Given the description of an element on the screen output the (x, y) to click on. 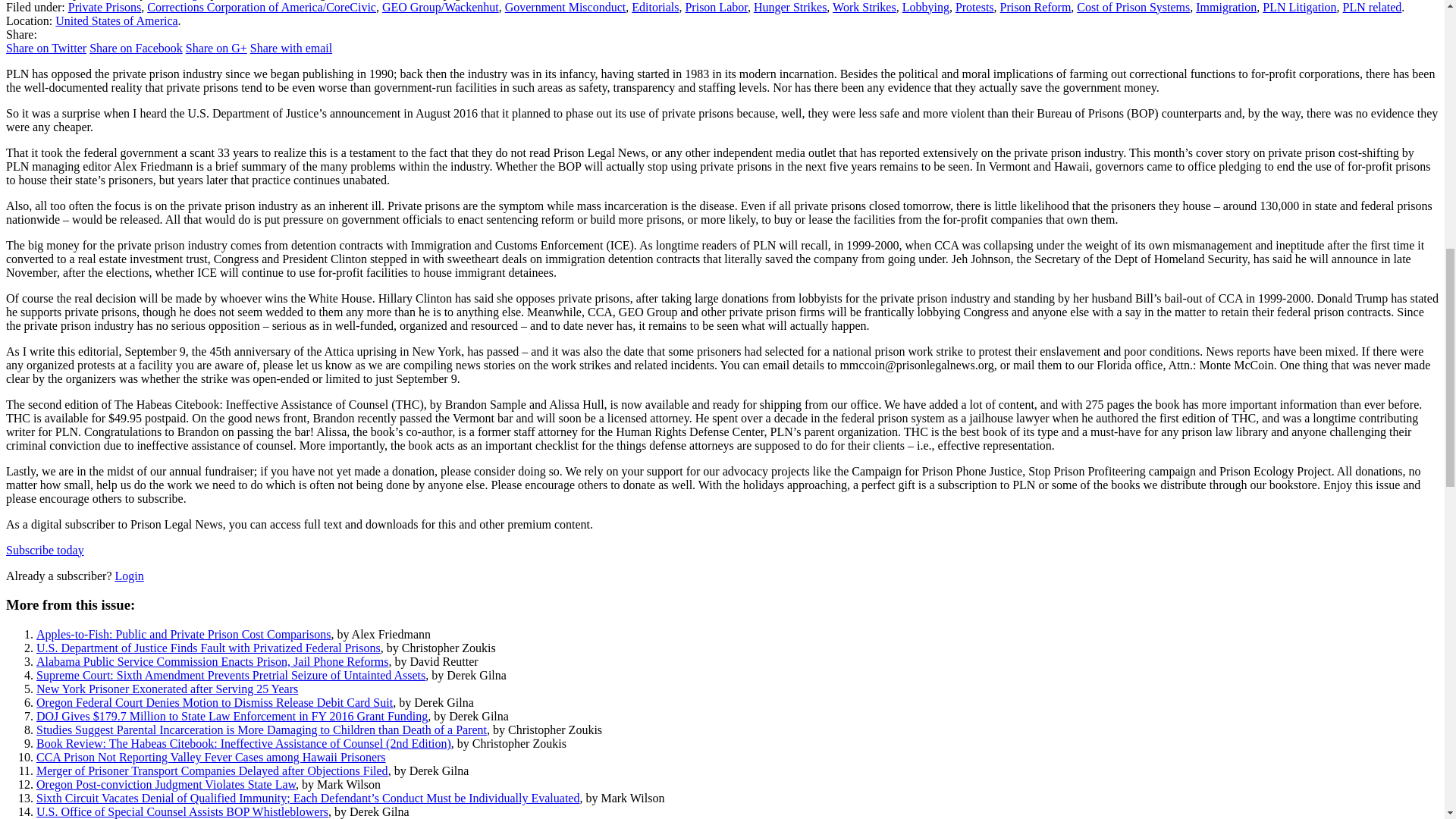
Share with email (290, 47)
Share on Twitter (45, 47)
Share on Facebook (135, 47)
